Given the description of an element on the screen output the (x, y) to click on. 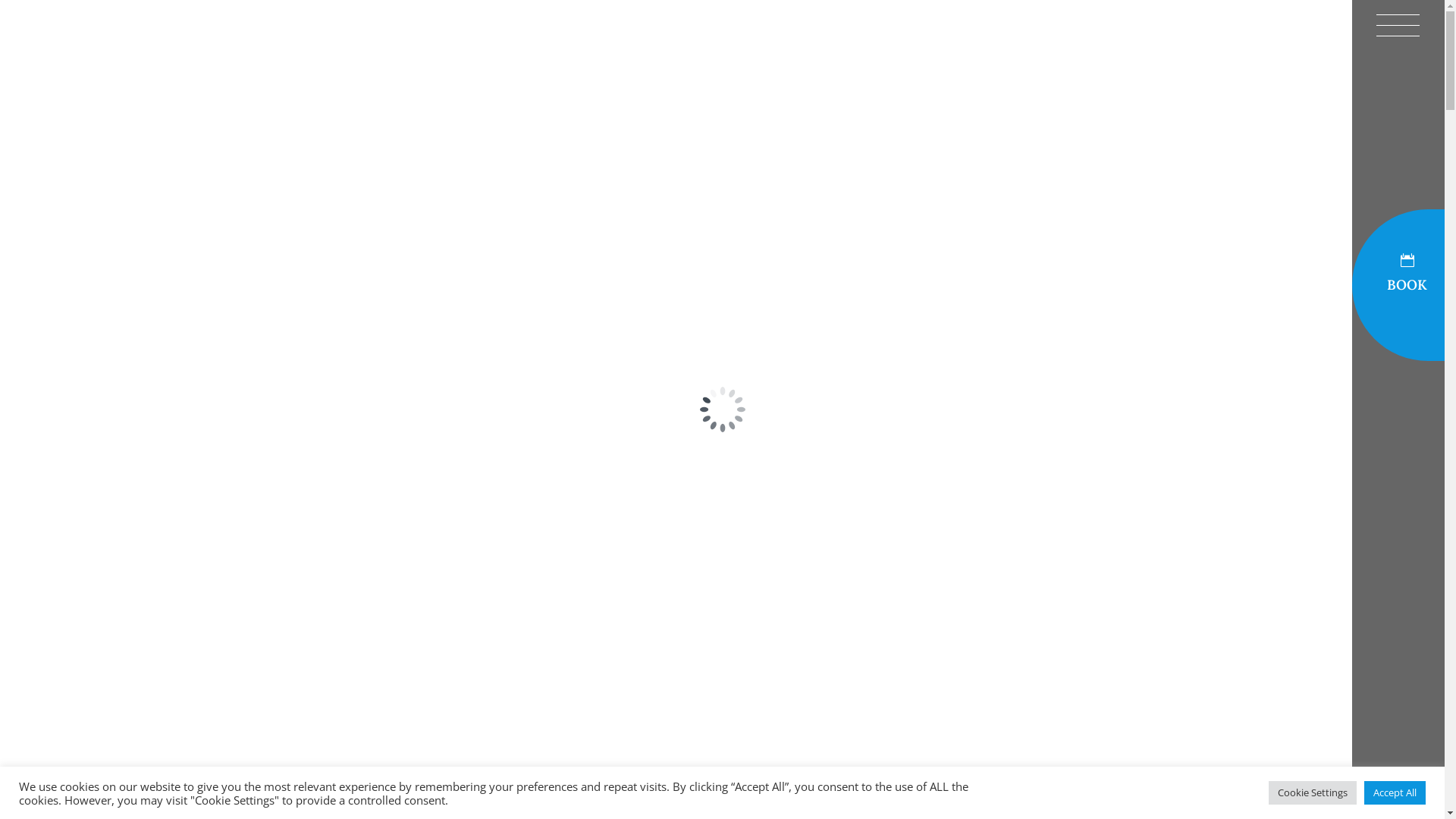
BOOK Element type: text (1398, 284)
Accept All Element type: text (1394, 792)
see through logo white Element type: hover (116, 63)
Cookie Settings Element type: text (1312, 792)
